Given the description of an element on the screen output the (x, y) to click on. 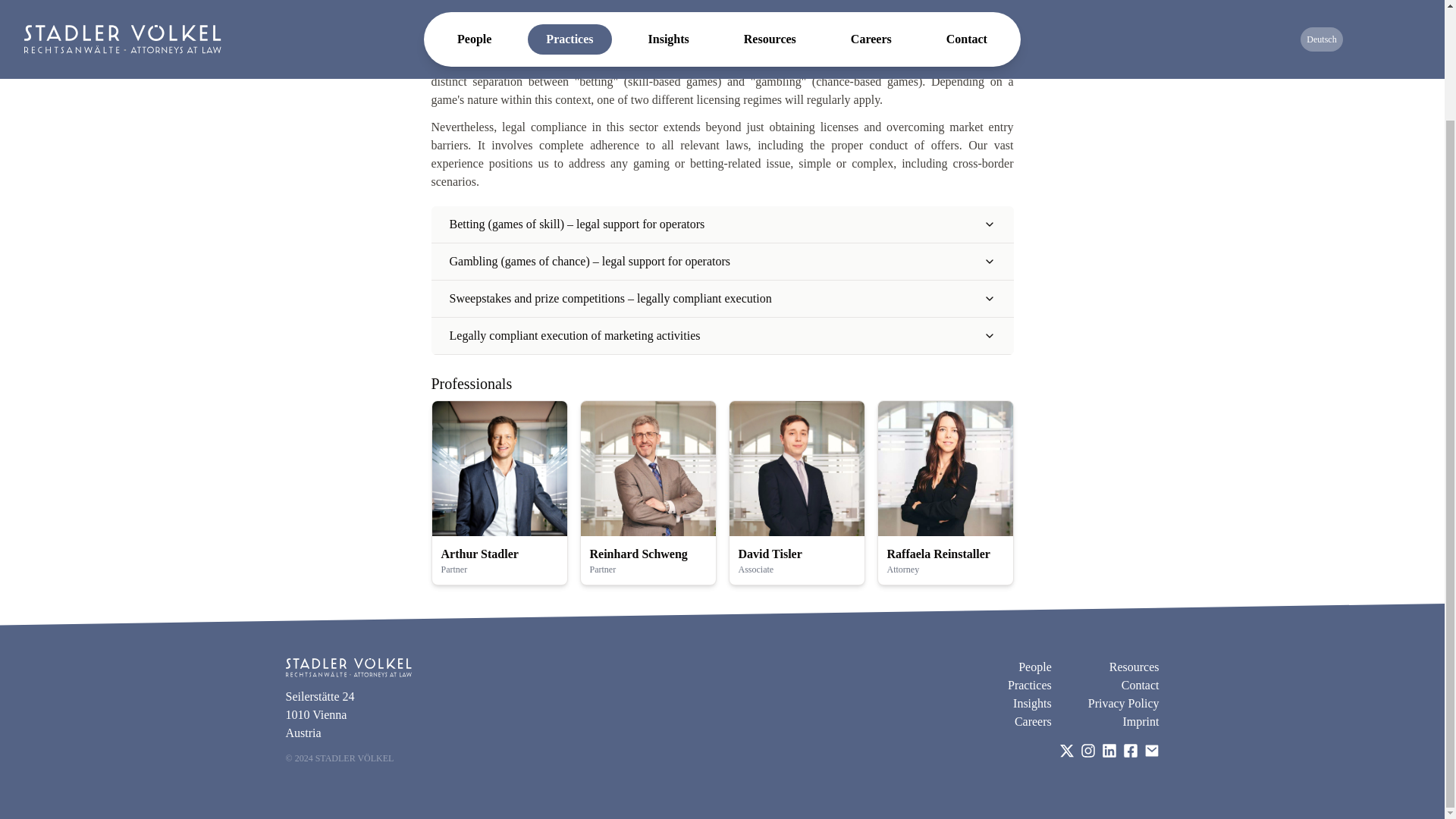
Practices (1029, 685)
Insights (1032, 703)
Contact (1139, 685)
People (1034, 667)
Imprint (1140, 721)
Resources (1133, 667)
Legally compliant execution of marketing activities (721, 335)
Privacy Policy (1122, 703)
Careers (1032, 721)
